Given the description of an element on the screen output the (x, y) to click on. 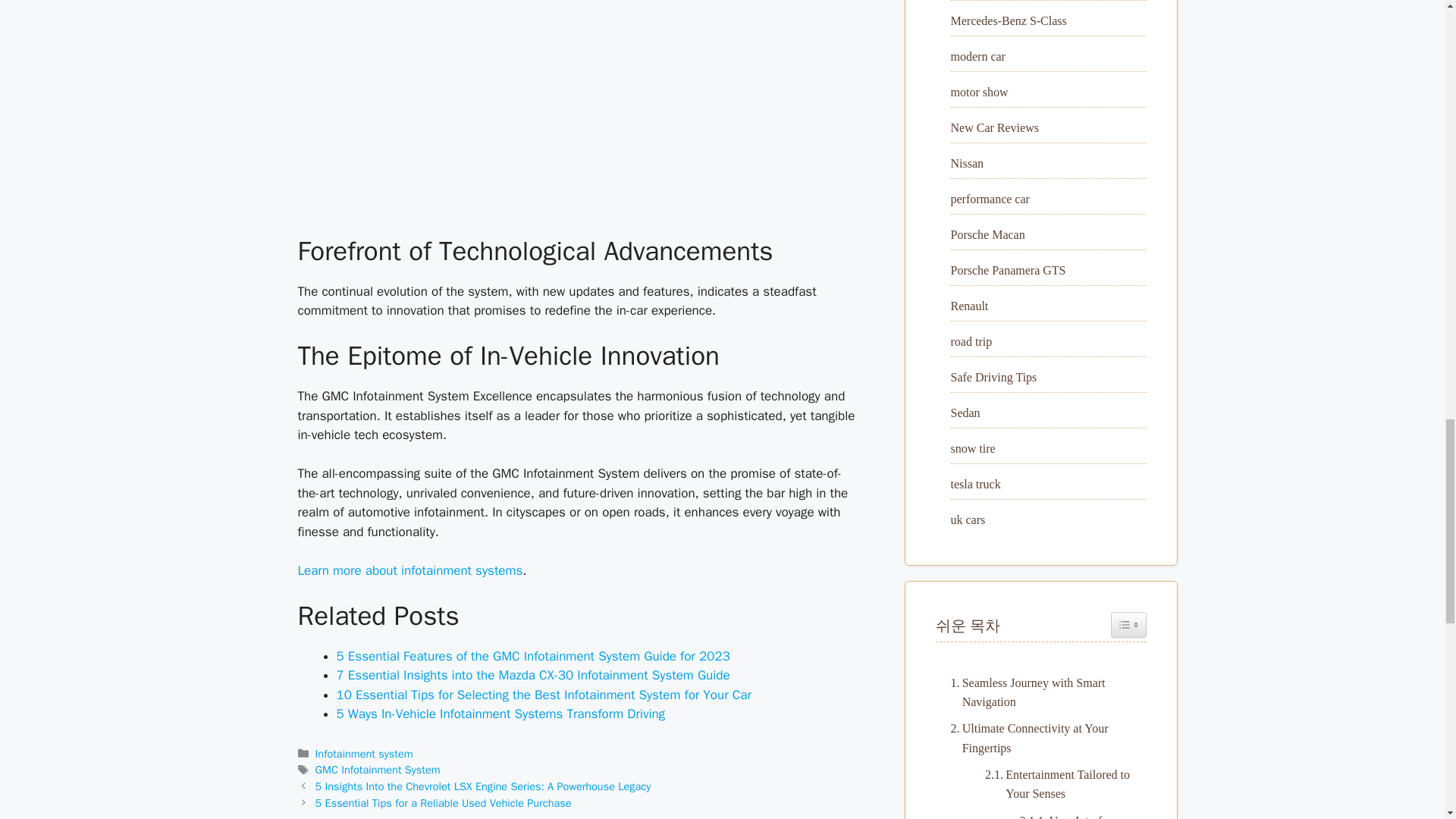
5 Essential Tips for a Reliable Used Vehicle Purchase (443, 802)
Seamless Journey with Smart Navigation (1040, 692)
GMC Infotainment System (378, 769)
5 Ways In-Vehicle Infotainment Systems Transform Driving (500, 713)
Learn more about infotainment systems (409, 570)
User Interface: Simplicity Meets Sophistication (1074, 815)
Infotainment system (364, 753)
Entertainment Tailored to Your Senses (1057, 783)
Ultimate Connectivity at Your Fingertips (1040, 738)
